Given the description of an element on the screen output the (x, y) to click on. 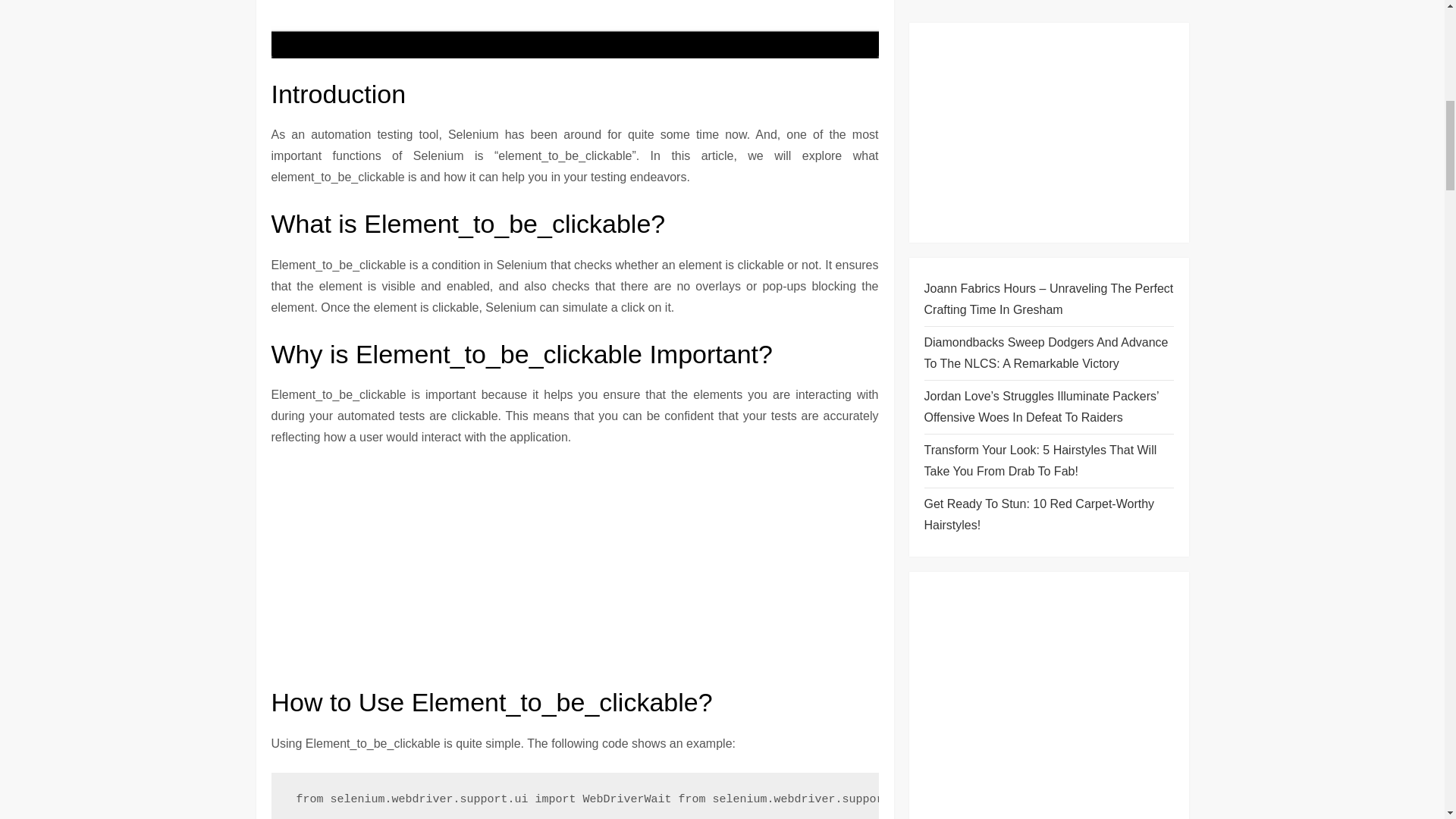
Advertisement (574, 572)
